Given the description of an element on the screen output the (x, y) to click on. 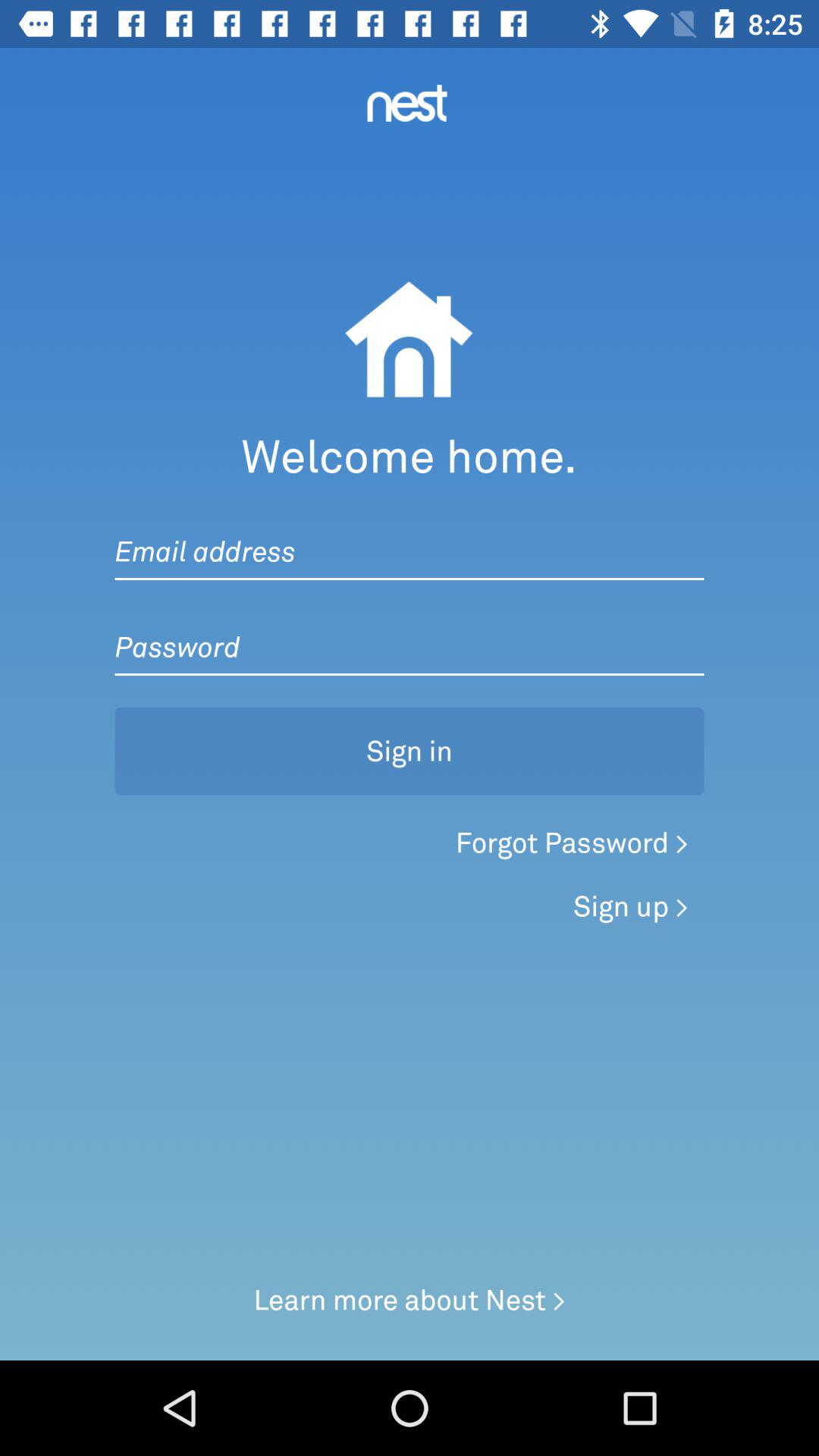
enter password (409, 631)
